Given the description of an element on the screen output the (x, y) to click on. 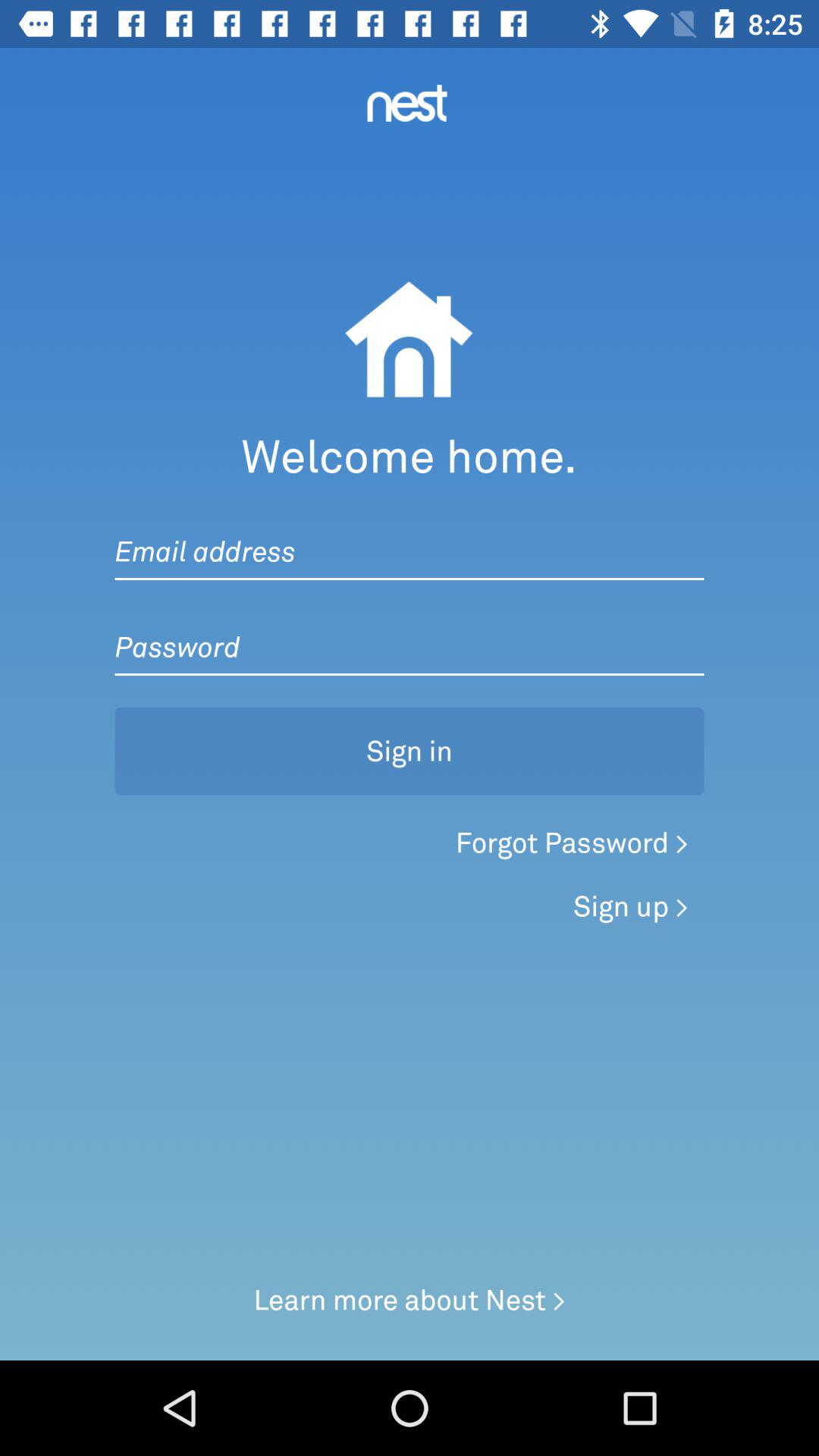
enter password (409, 631)
